Given the description of an element on the screen output the (x, y) to click on. 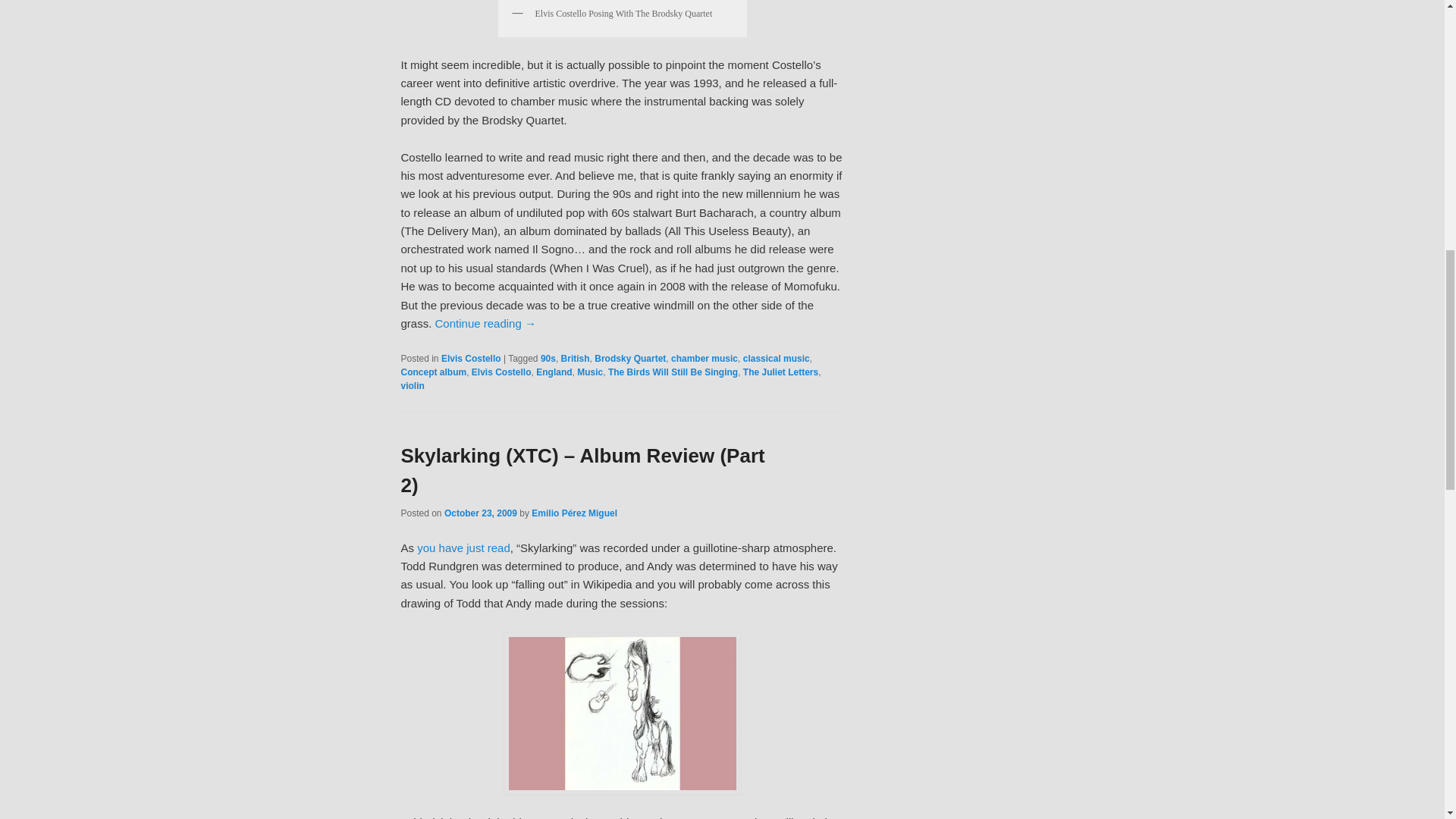
Todd Rundgren (622, 713)
England (553, 371)
British (574, 357)
you have just read (463, 547)
The Birds Will Still Be Singing (673, 371)
The Juliet Letters (780, 371)
10:37 am (480, 512)
classical music (775, 357)
violin (411, 385)
Elvis Costello (470, 357)
